Given the description of an element on the screen output the (x, y) to click on. 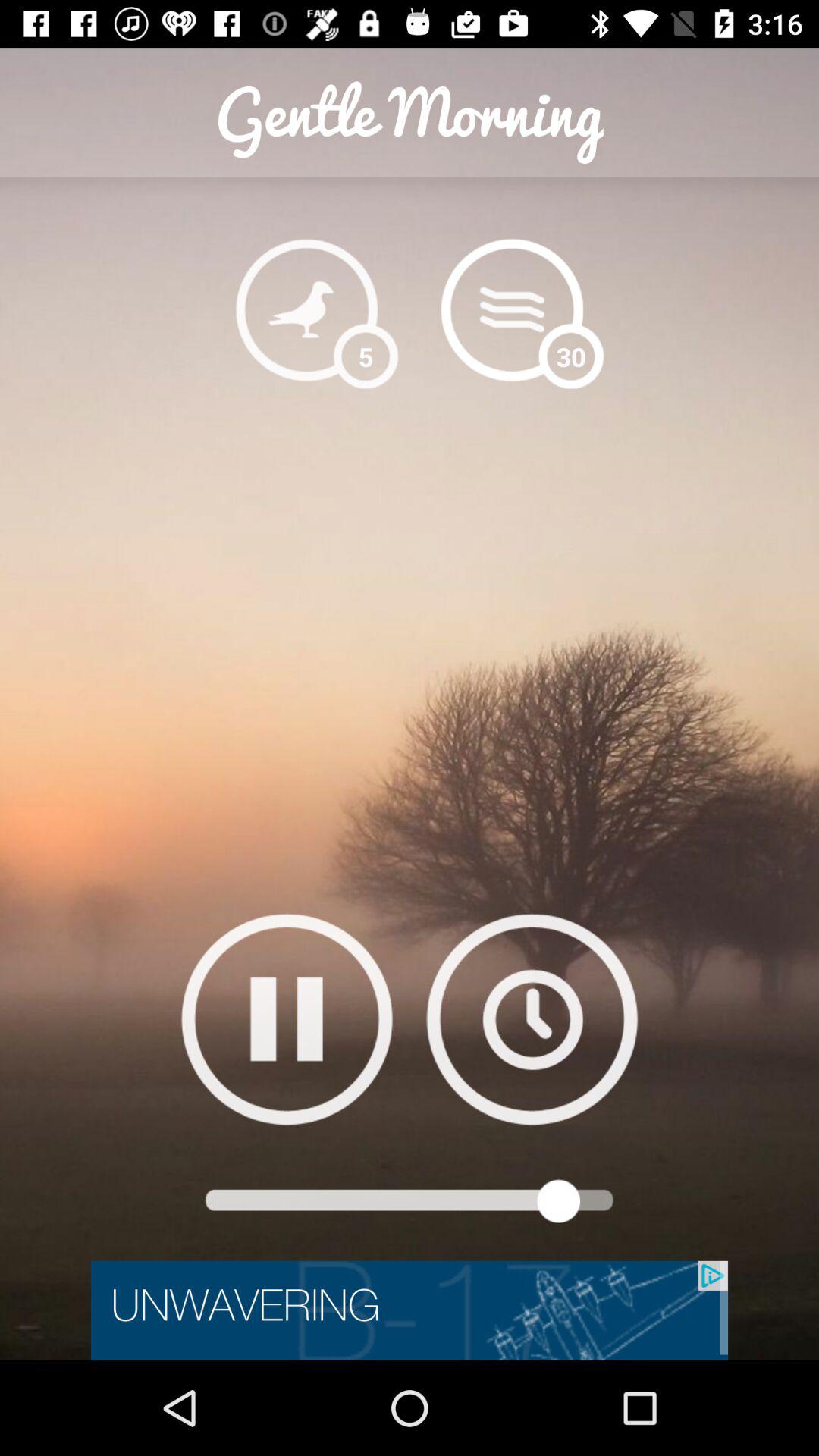
select bird sounds (306, 309)
